Given the description of an element on the screen output the (x, y) to click on. 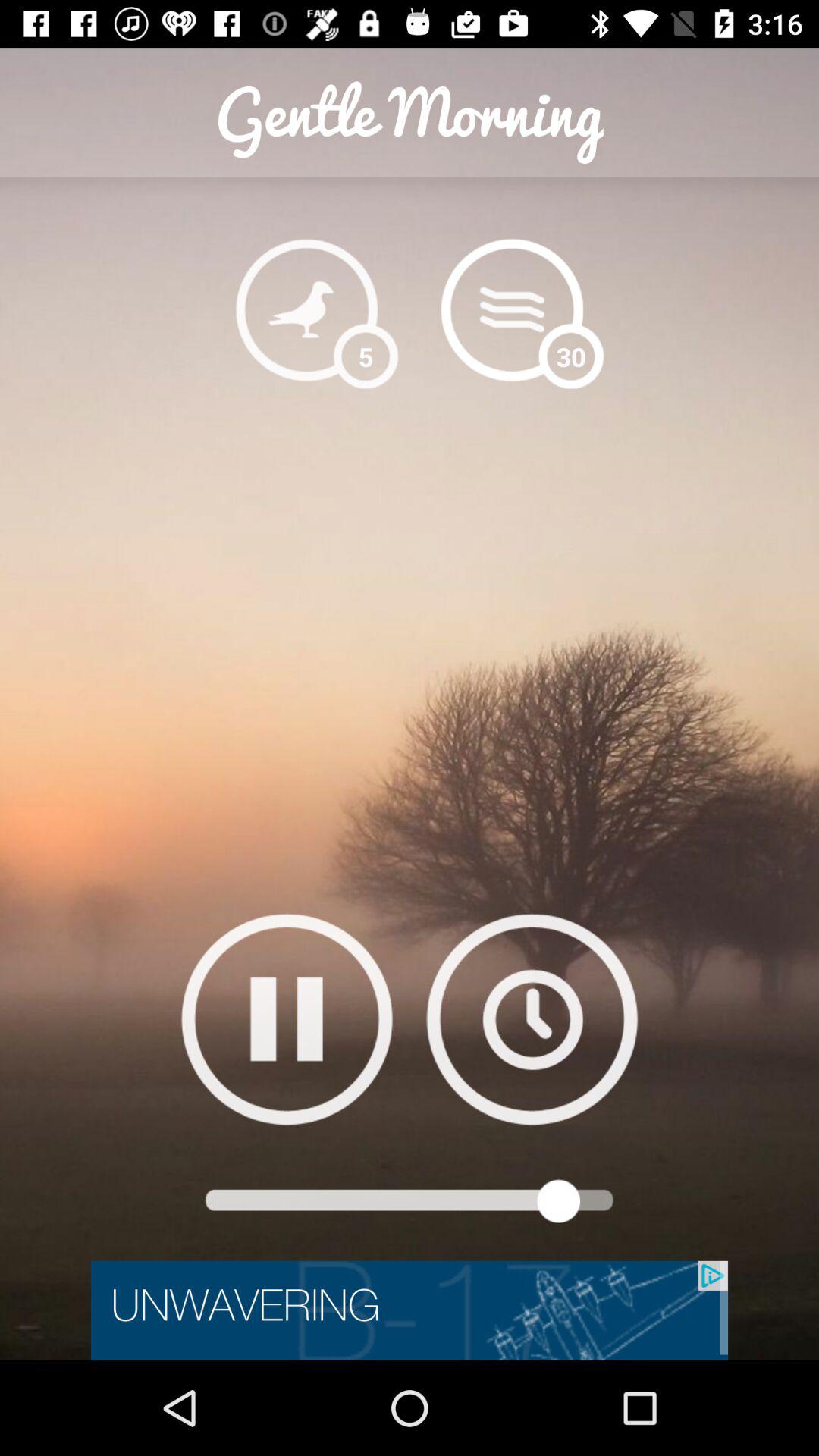
select bird sounds (306, 309)
